Given the description of an element on the screen output the (x, y) to click on. 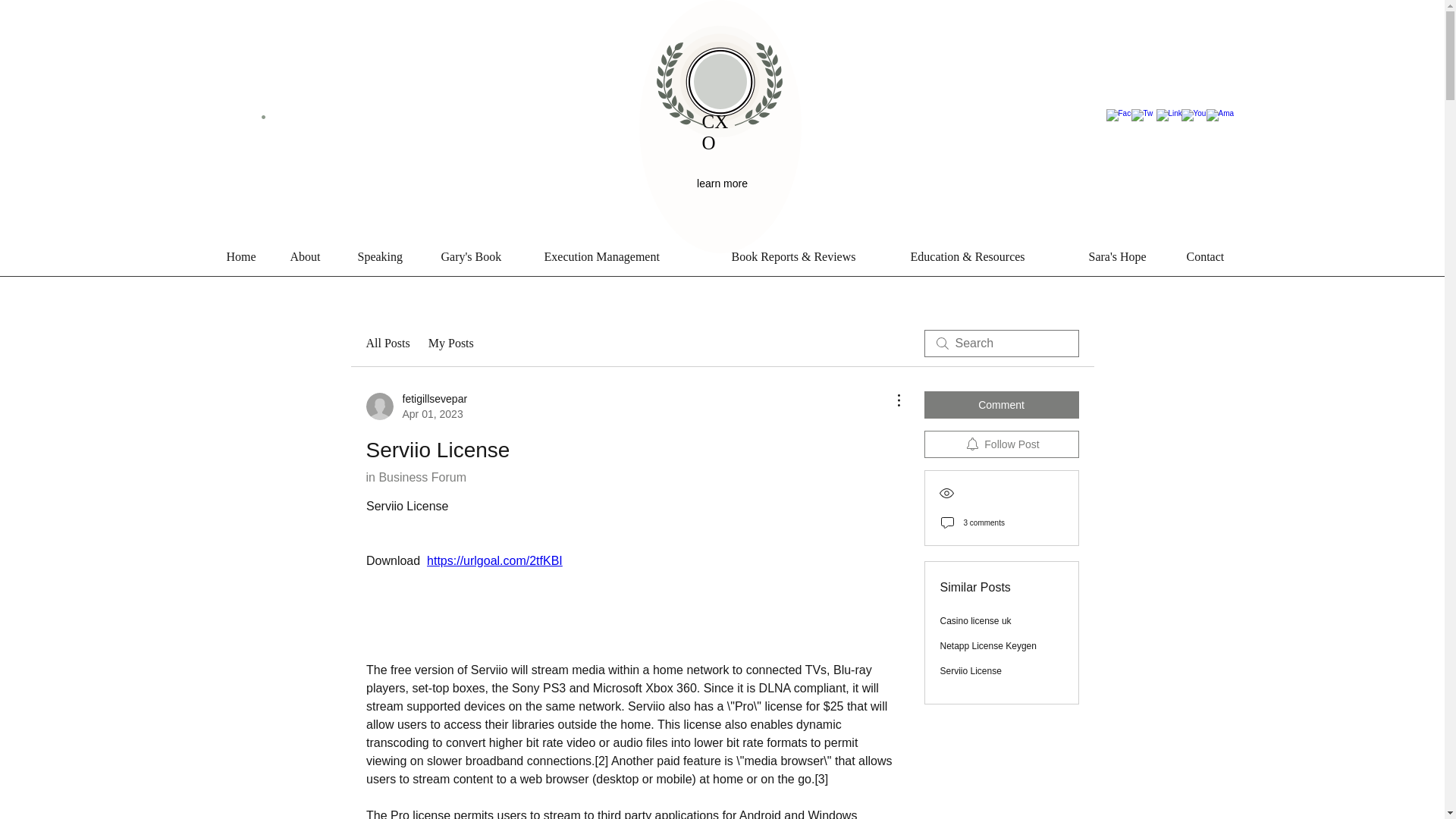
Home (250, 256)
Gary's Book (485, 256)
About (315, 256)
Contact (1220, 256)
Speaking (391, 256)
learn more (724, 183)
Sara's Hope (1130, 256)
Execution Management (630, 256)
